Given the description of an element on the screen output the (x, y) to click on. 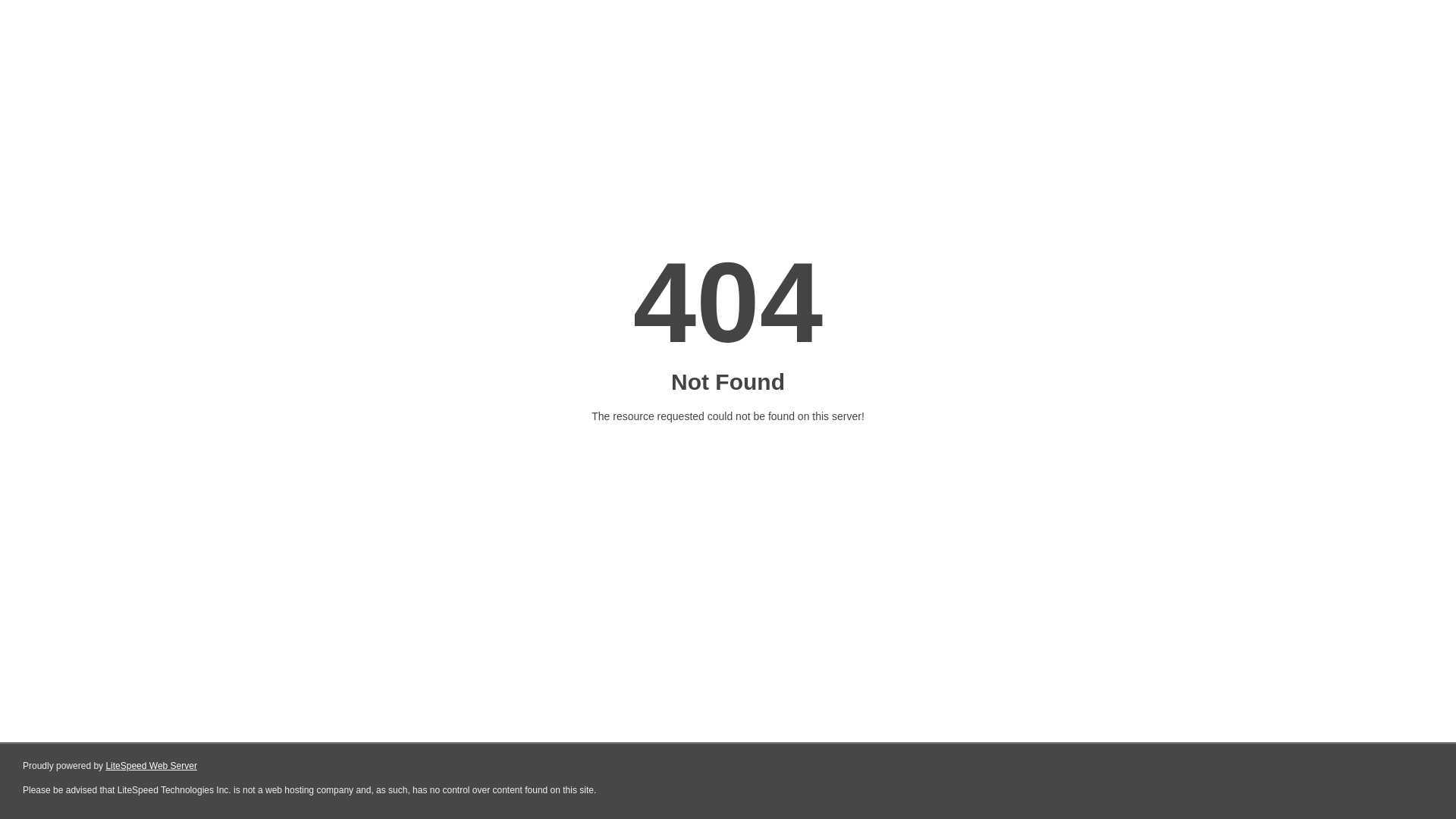
LiteSpeed Web Server Element type: text (151, 765)
